Given the description of an element on the screen output the (x, y) to click on. 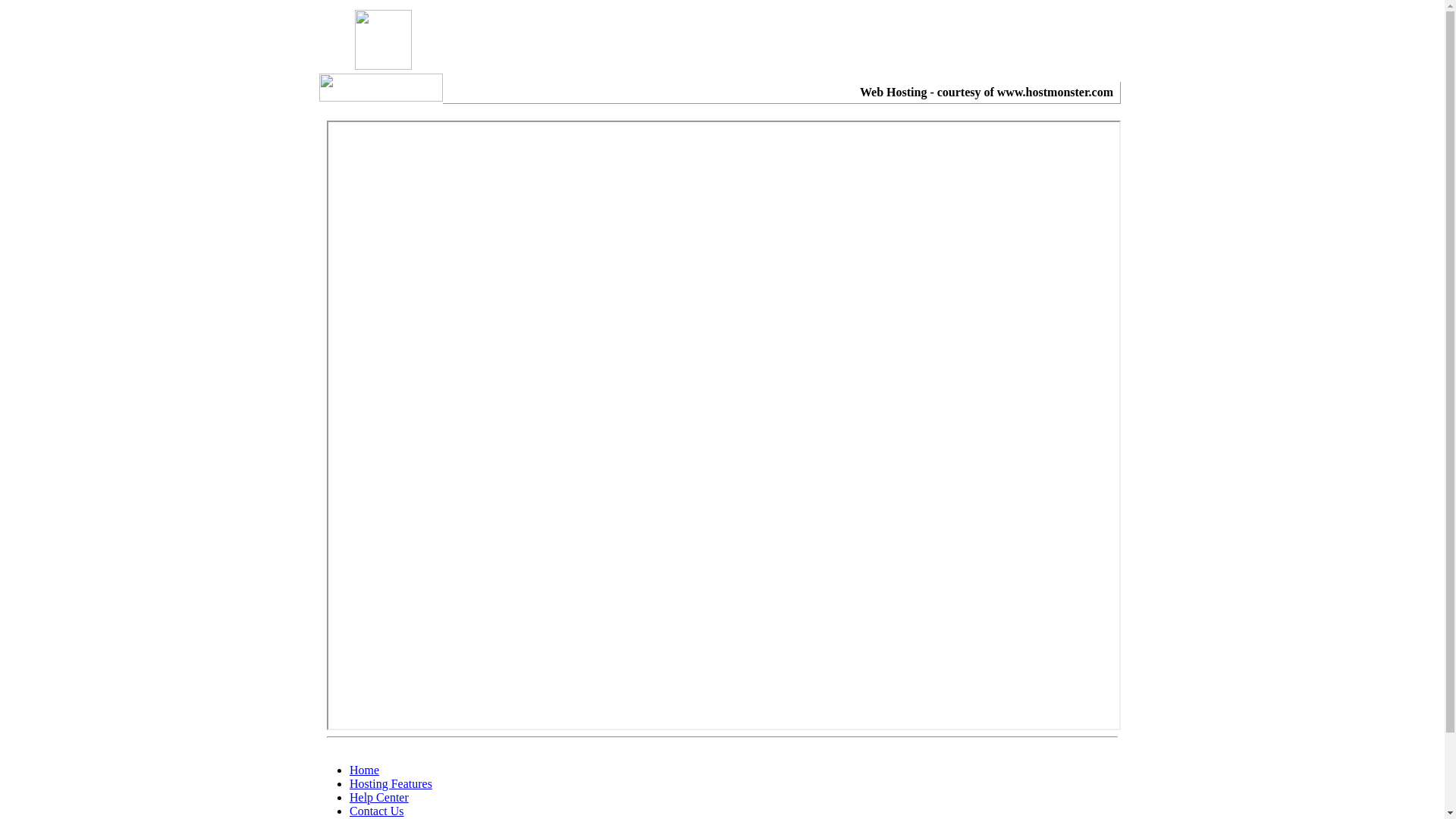
Web Hosting - courtesy of www.hostmonster.com Element type: text (986, 91)
Hosting Features Element type: text (390, 783)
Contact Us Element type: text (376, 810)
Help Center Element type: text (378, 796)
Home Element type: text (364, 769)
